Given the description of an element on the screen output the (x, y) to click on. 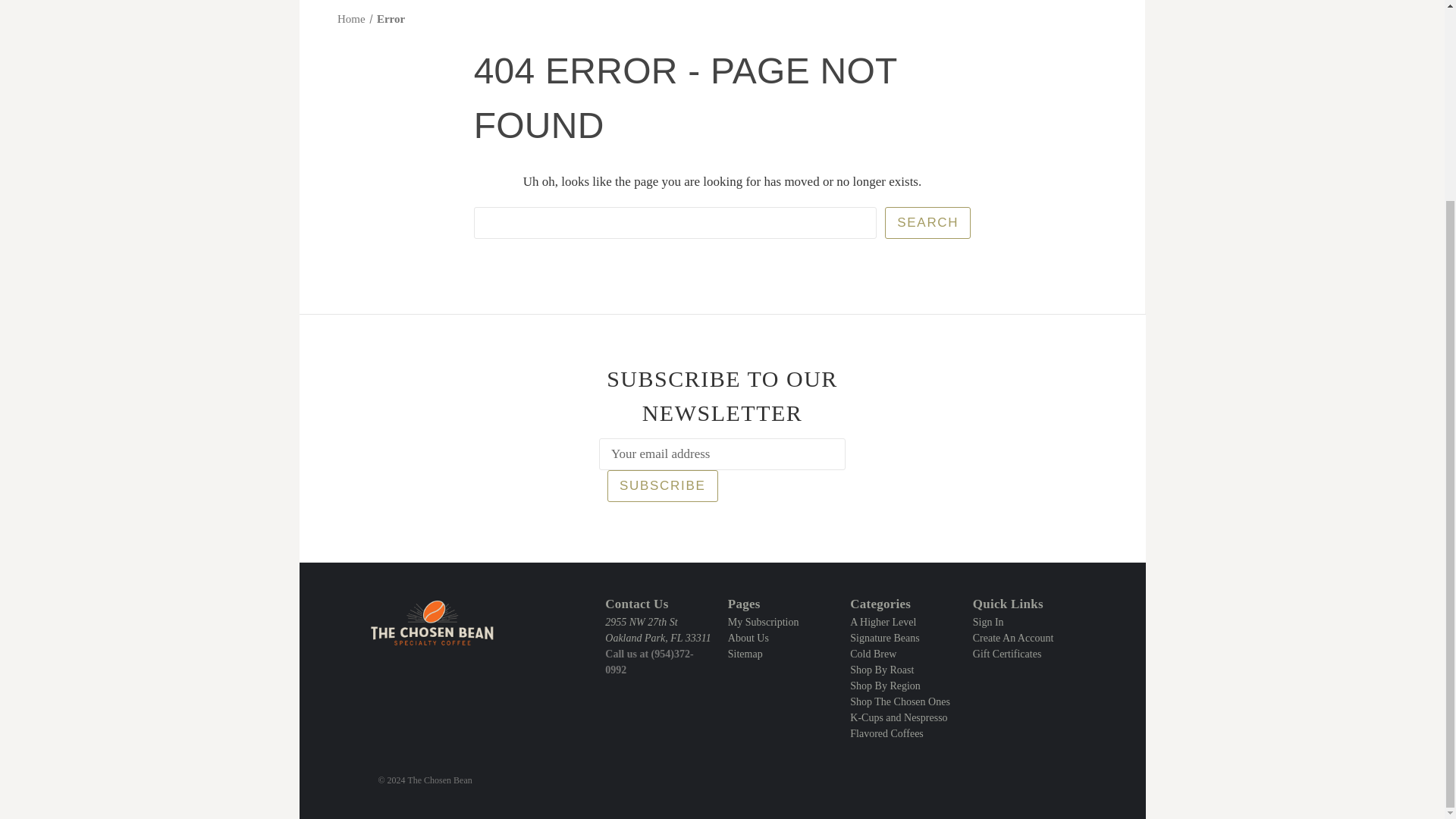
Search (928, 223)
Subscribe (662, 486)
